Given the description of an element on the screen output the (x, y) to click on. 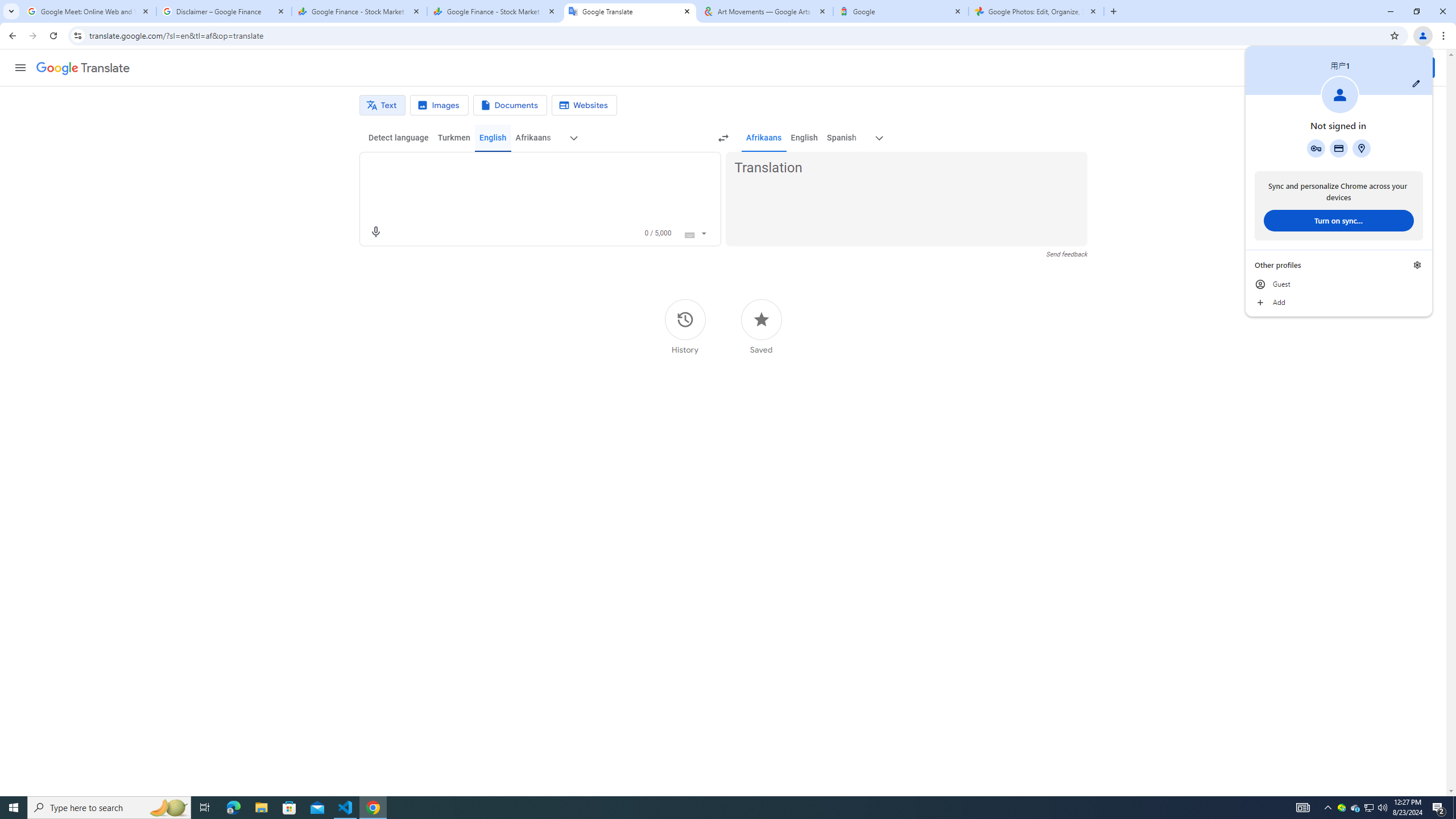
Spanish (840, 137)
Microsoft Store (289, 807)
Turkmen (453, 137)
Google Chrome - 1 running window (373, 807)
Guest (1338, 284)
Type here to search (108, 807)
0 of 5,000 characters used (658, 232)
Start (13, 807)
English (804, 137)
History (684, 326)
